Given the description of an element on the screen output the (x, y) to click on. 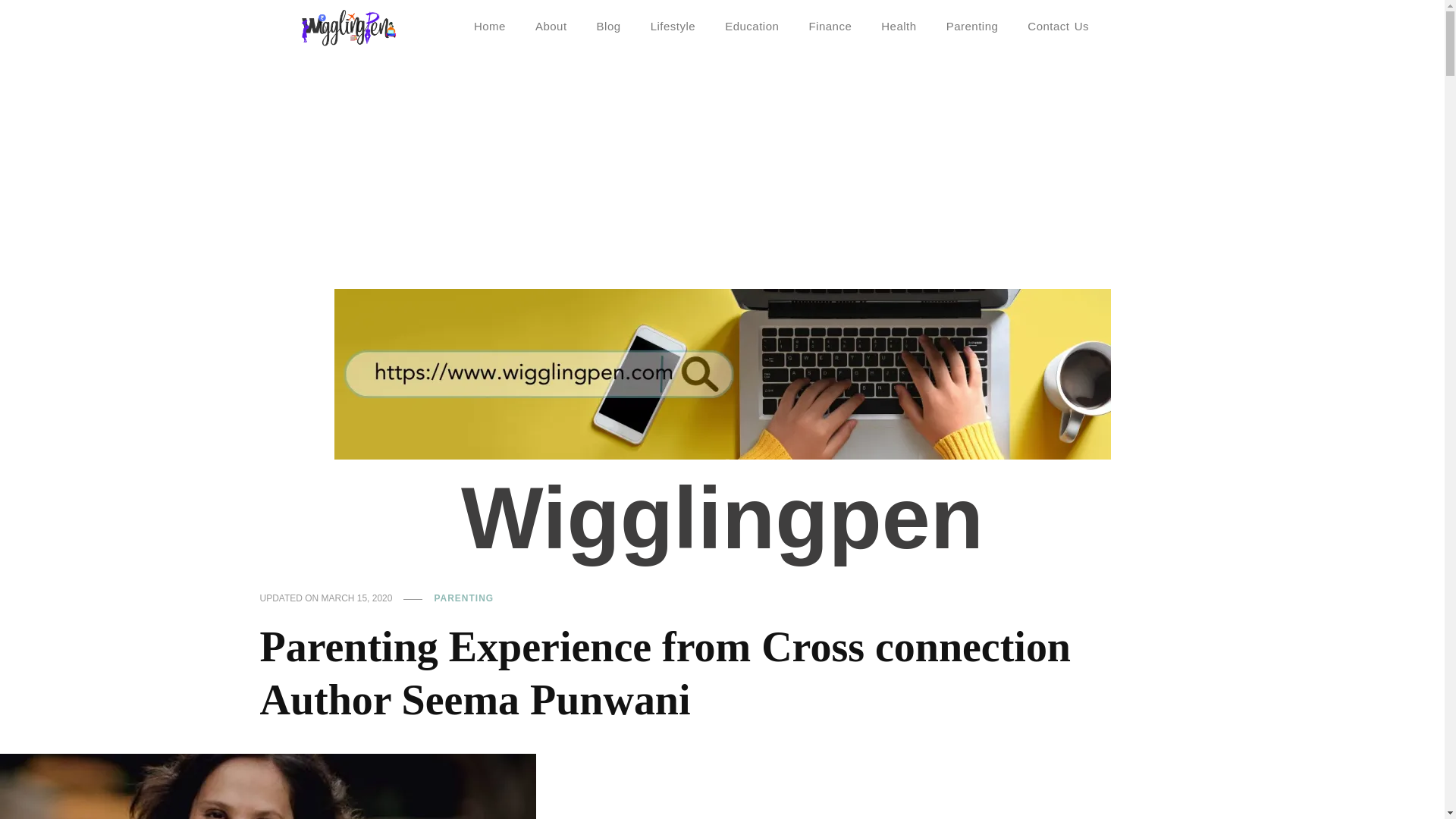
Blog (608, 26)
Home (489, 26)
Parenting (972, 26)
Lifestyle (673, 26)
Finance (829, 26)
Health (898, 26)
Contact Us (1057, 26)
About (550, 26)
MARCH 15, 2020 (357, 599)
